Given the description of an element on the screen output the (x, y) to click on. 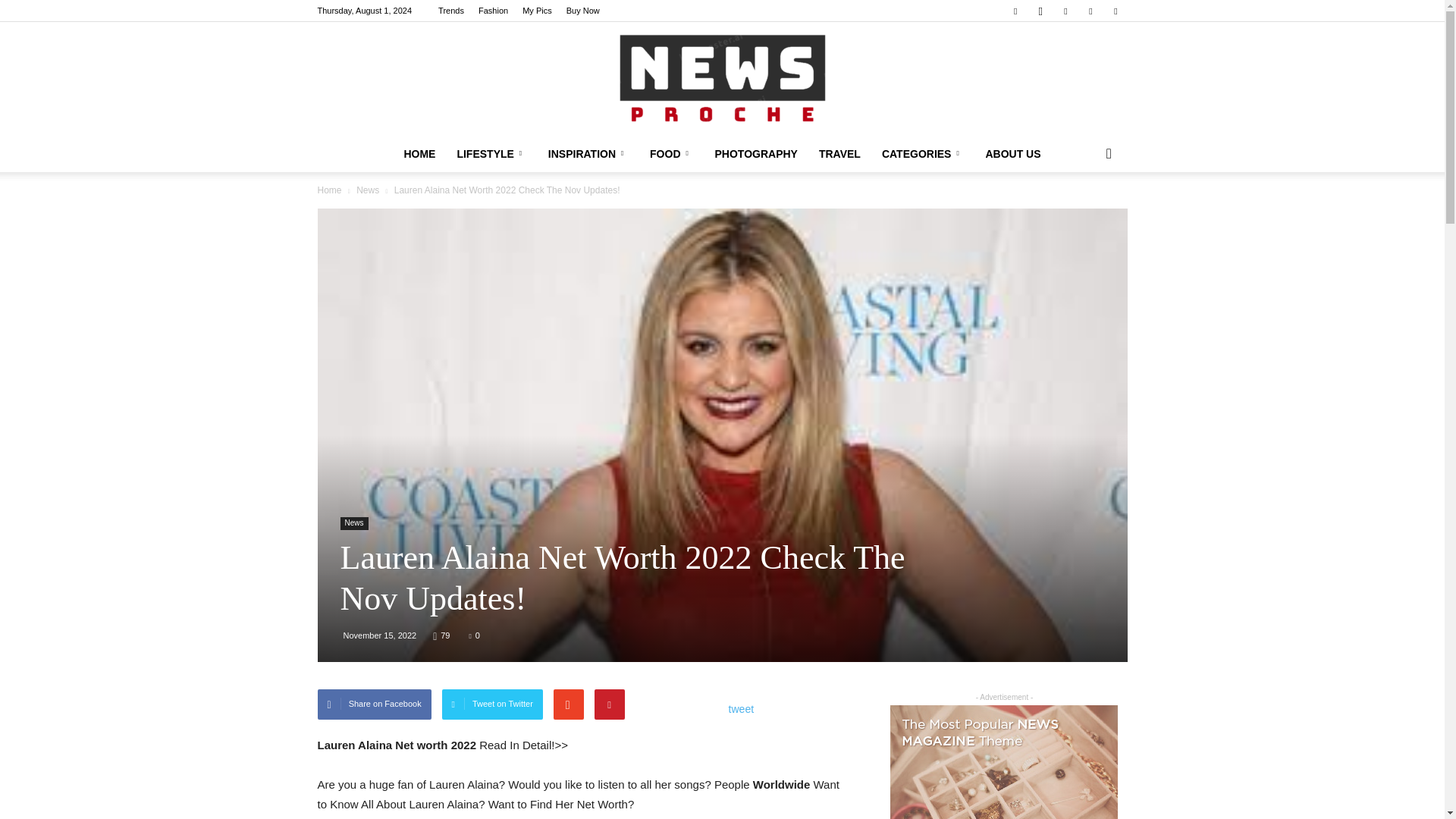
Fashion (493, 10)
Twitter (1114, 10)
My Pics (536, 10)
LIFESTYLE (491, 153)
Trends (451, 10)
Buy Now (582, 10)
Pinterest (1065, 10)
Instagram (1040, 10)
Tumblr (1090, 10)
Facebook (1015, 10)
